Given the description of an element on the screen output the (x, y) to click on. 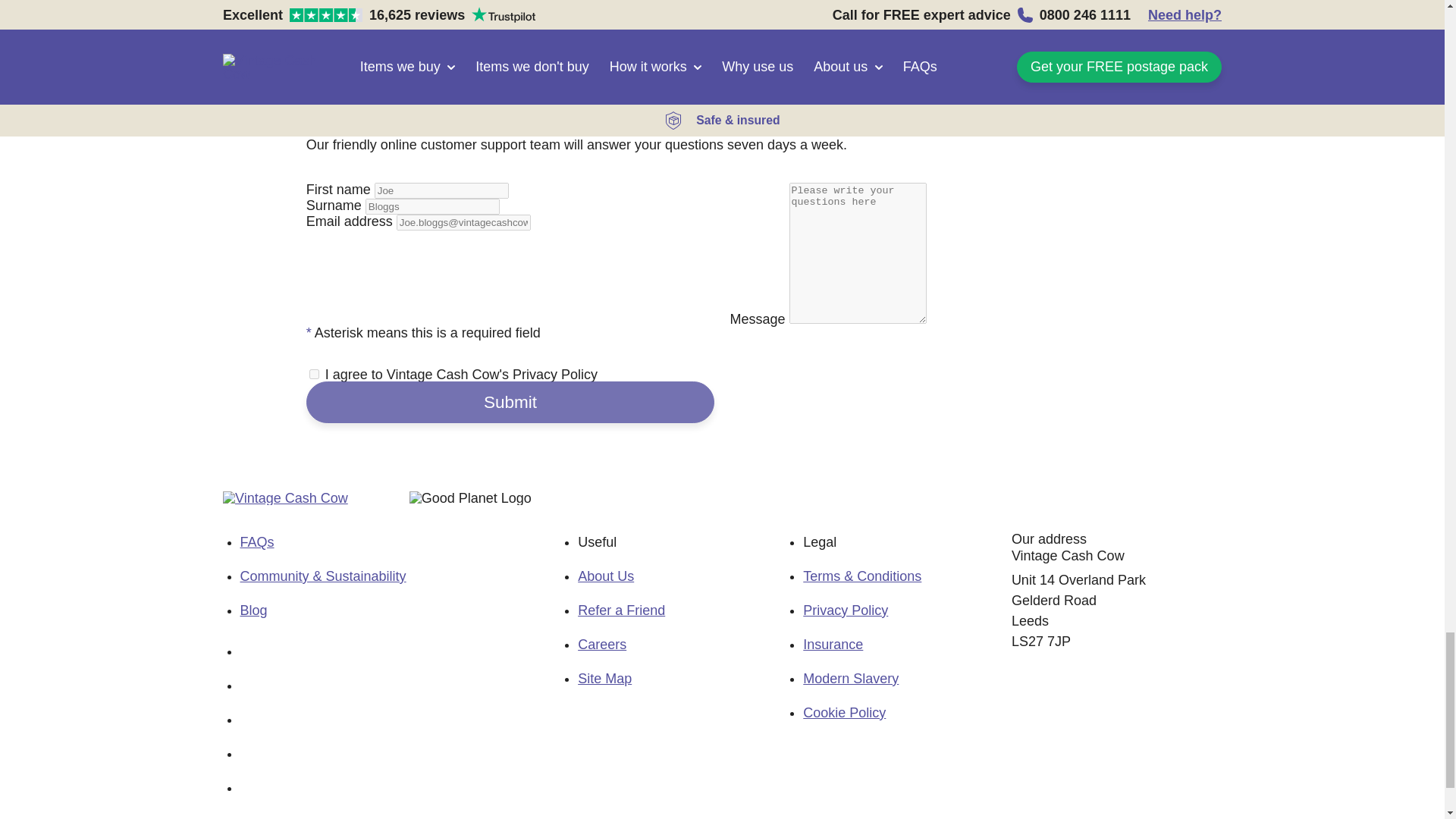
on (313, 374)
